Given the description of an element on the screen output the (x, y) to click on. 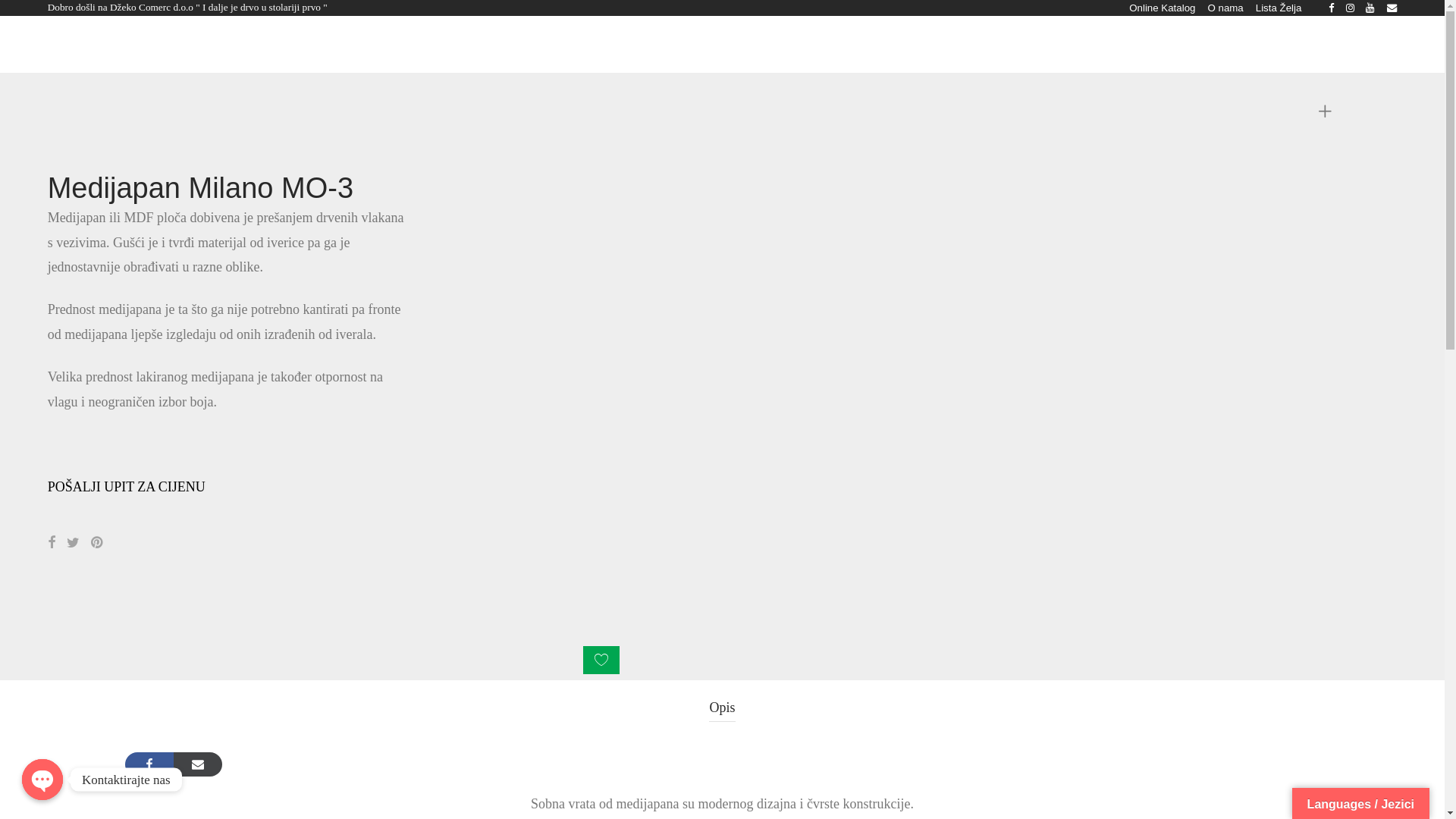
O nama Element type: text (1224, 7)
Pin on Pinterest Element type: hover (97, 542)
YouTube Element type: hover (1370, 6)
Prijava Element type: text (1310, 45)
Galerija Element type: text (430, 45)
Kontakt Element type: text (601, 45)
Share via Email Element type: hover (197, 764)
Naslovnica Element type: text (206, 45)
Opis Element type: text (721, 707)
Facebook Element type: hover (1331, 6)
Usluge Element type: text (486, 45)
O nama Element type: text (543, 45)
Sobna Vrata Element type: text (281, 45)
Online Katalog Element type: text (1161, 7)
Share on Facebook Element type: hover (149, 764)
Cjenovnik Element type: text (665, 45)
Email Element type: hover (1391, 6)
Instagram Element type: hover (1350, 6)
Share on Twitter Element type: hover (72, 542)
Novosti Element type: text (727, 45)
Share on Facebook Element type: hover (51, 542)
